Given the description of an element on the screen output the (x, y) to click on. 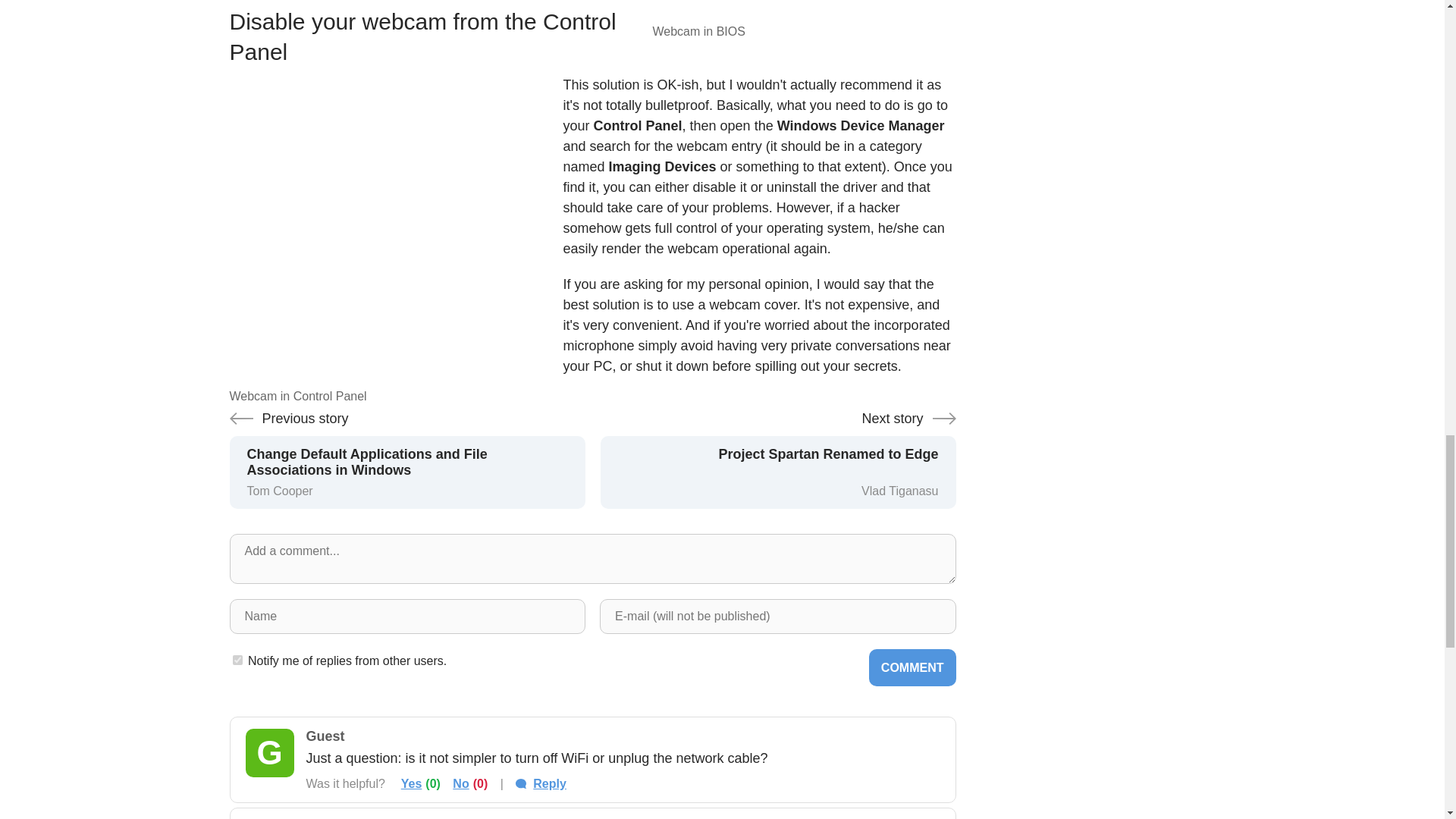
Reply (540, 783)
1 (236, 660)
Comment (912, 667)
Comment (912, 667)
Yes (411, 783)
Webcam in Control Panel  (380, 232)
Webcam in BIOS (803, 10)
No (777, 459)
